Given the description of an element on the screen output the (x, y) to click on. 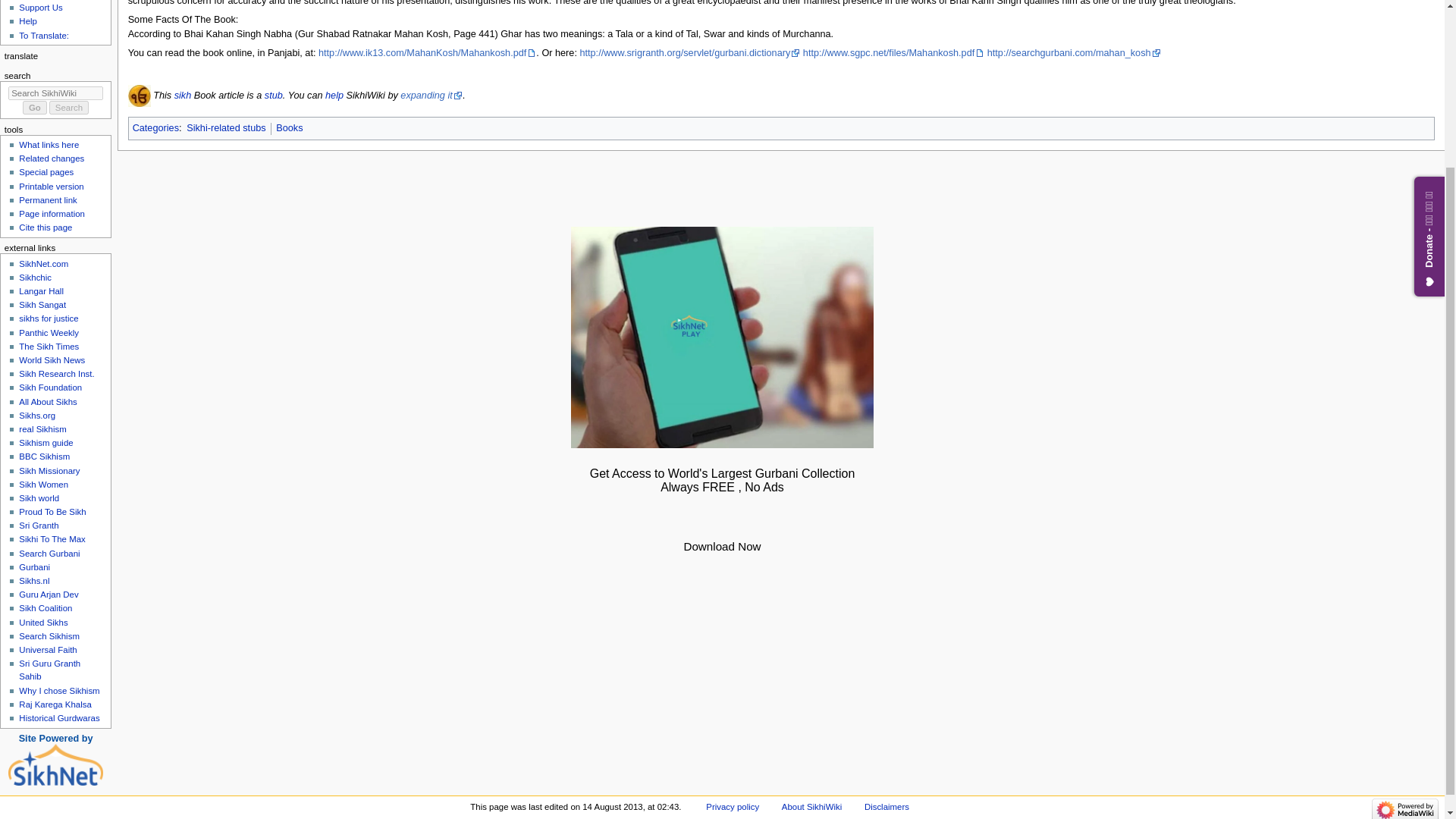
Go (34, 107)
help (333, 95)
Help (27, 20)
To Translate: (43, 35)
Categories (155, 127)
Sikh (183, 95)
expanding it (430, 95)
SikhiWiki:Find or fix a stub (333, 95)
stub (273, 95)
Special:Categories (155, 127)
Category:Books (289, 127)
Category:Sikhi-related stubs (225, 127)
Sikhi-related stubs (225, 127)
SikhiWiki:Perfect stub article (273, 95)
sikh (183, 95)
